Given the description of an element on the screen output the (x, y) to click on. 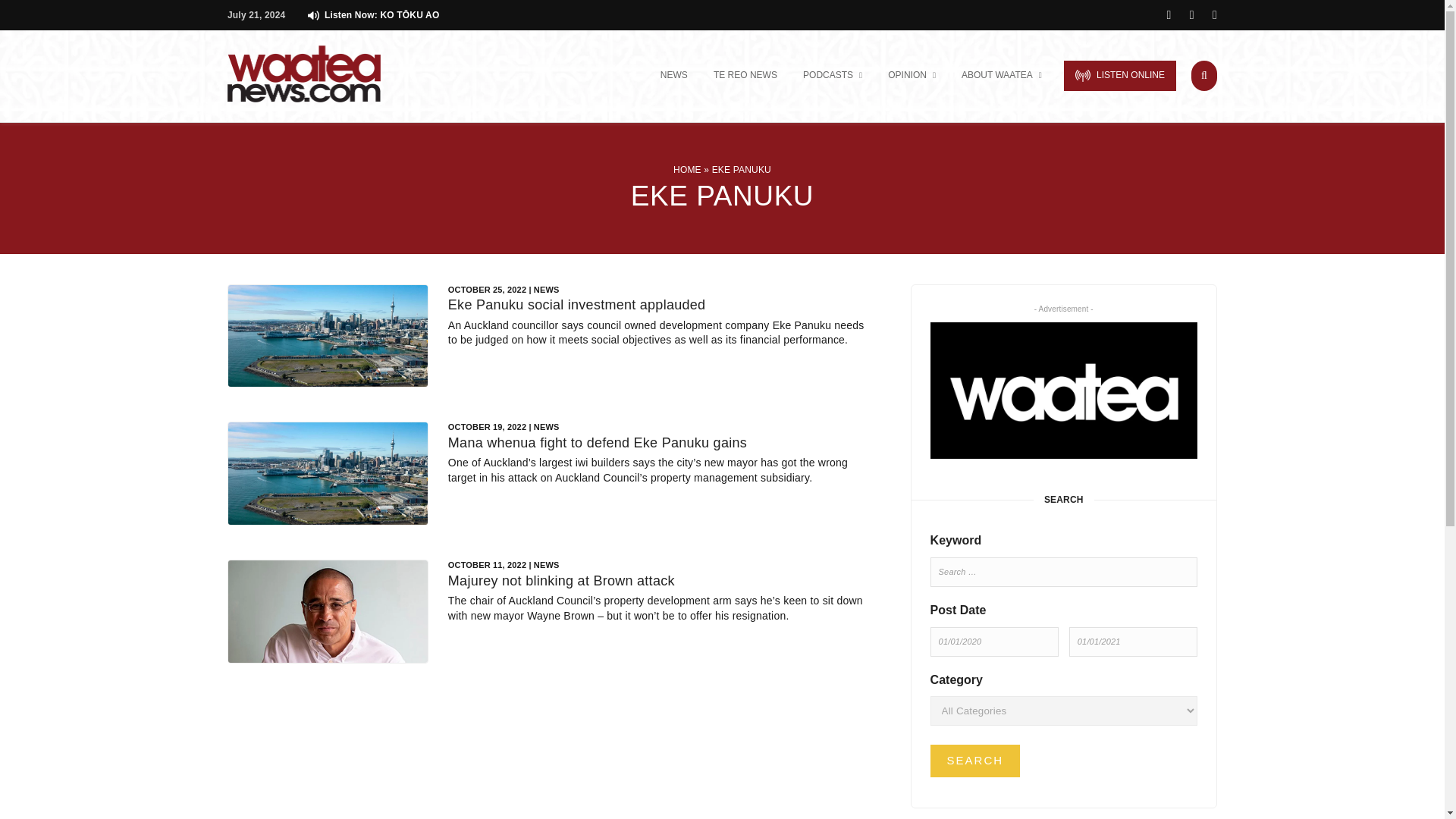
Majurey not blinking at Brown attack (561, 580)
Mana whenua fight to defend Eke Panuku gains (597, 442)
PODCASTS (832, 76)
Eke Panuku social investment applauded (576, 304)
TE REO NEWS (745, 76)
Search (975, 760)
NEWS (673, 76)
